Given the description of an element on the screen output the (x, y) to click on. 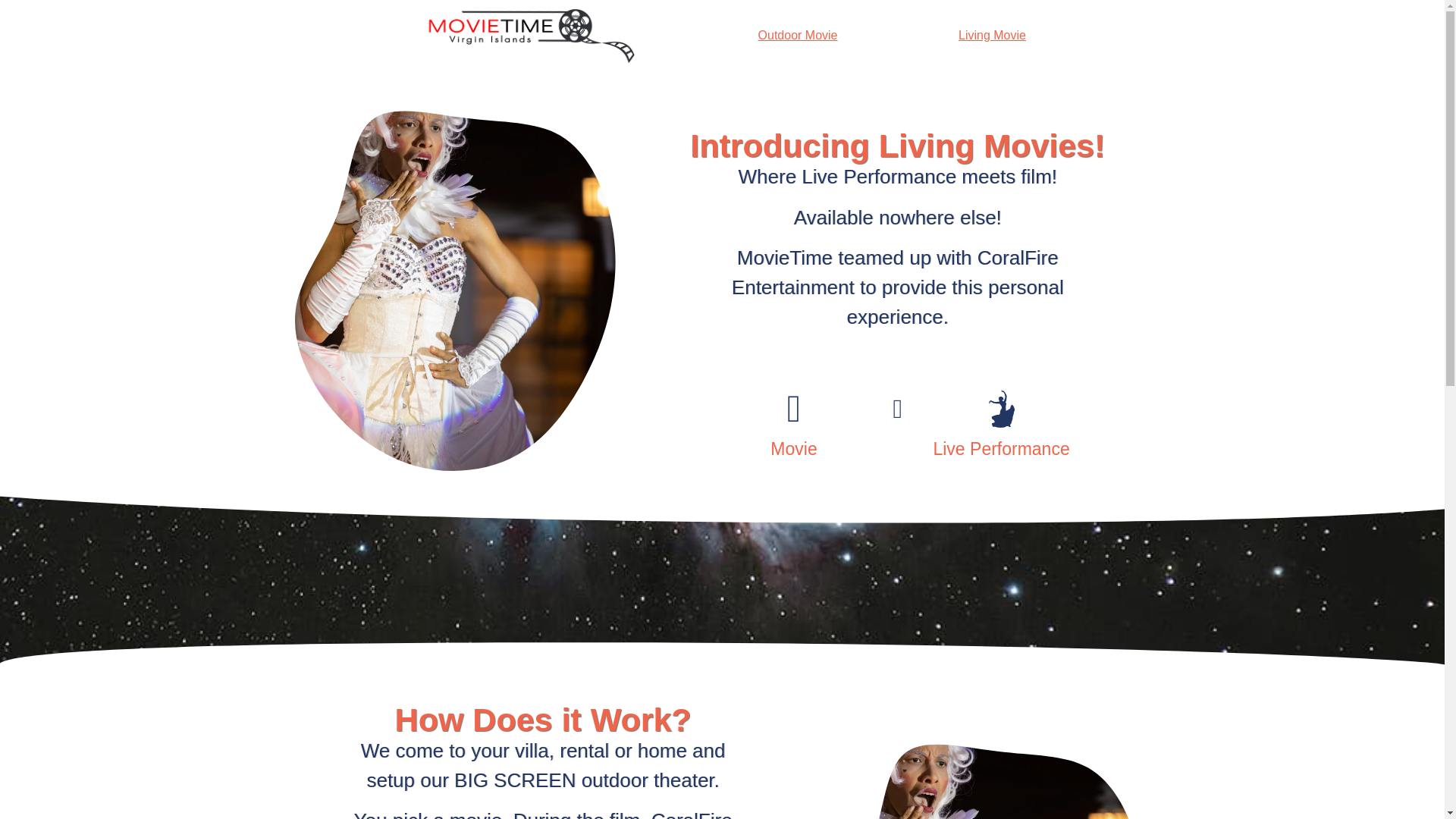
kelly-MistyWinter-8170 (973, 777)
